Given the description of an element on the screen output the (x, y) to click on. 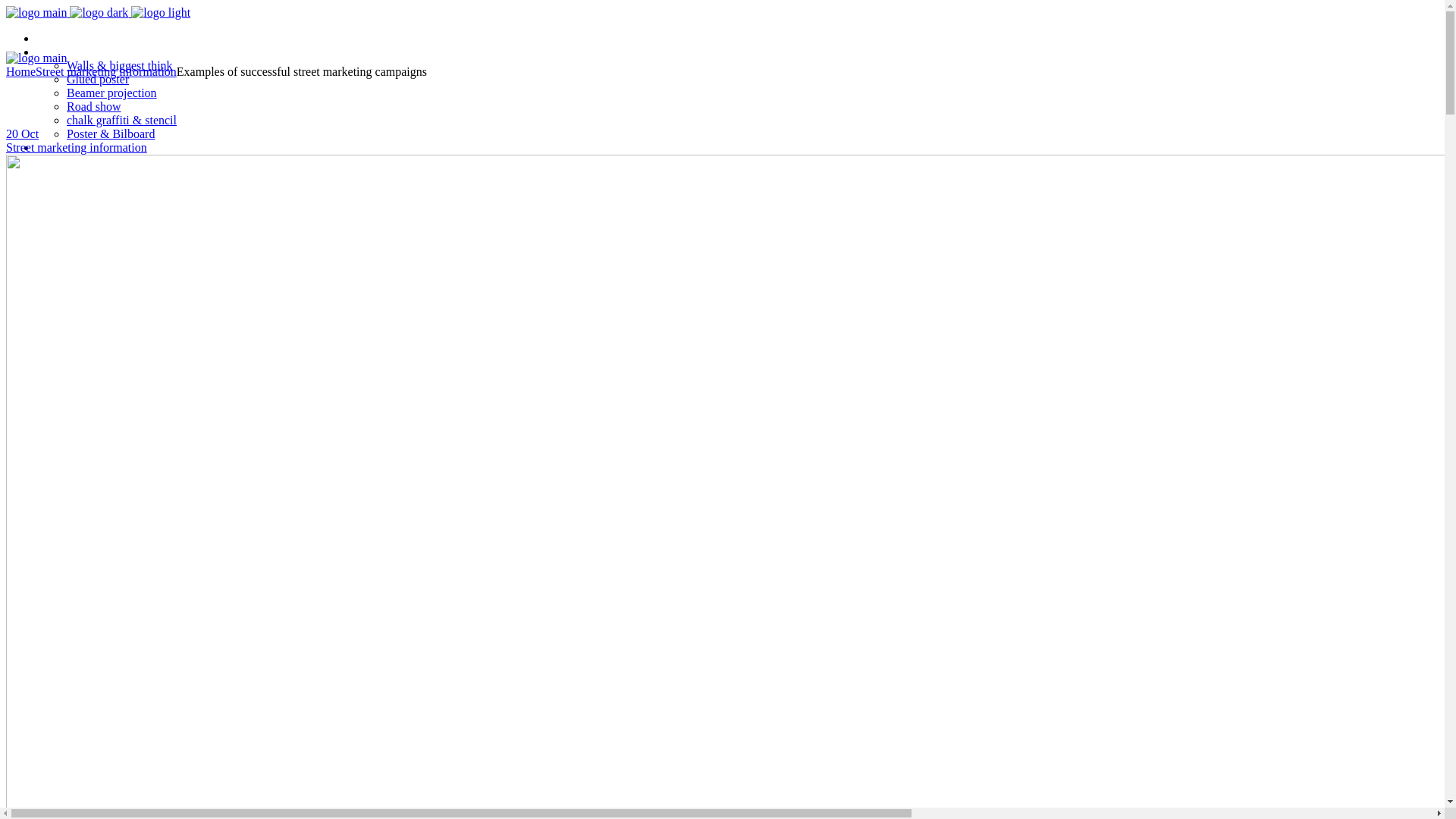
Our Services Element type: text (67, 51)
chalk graffiti & stencil Element type: text (121, 119)
Walls & biggest think Element type: text (119, 65)
Glued poster Element type: text (97, 78)
Street marketing information Element type: text (76, 147)
Street marketing information Element type: text (105, 71)
20 Oct Element type: text (22, 133)
Contact Us Element type: text (63, 147)
Home Element type: text (20, 71)
Road show Element type: text (93, 106)
Beamer projection Element type: text (111, 92)
Main Home Element type: text (65, 37)
Poster & Bilboard Element type: text (110, 133)
